Given the description of an element on the screen output the (x, y) to click on. 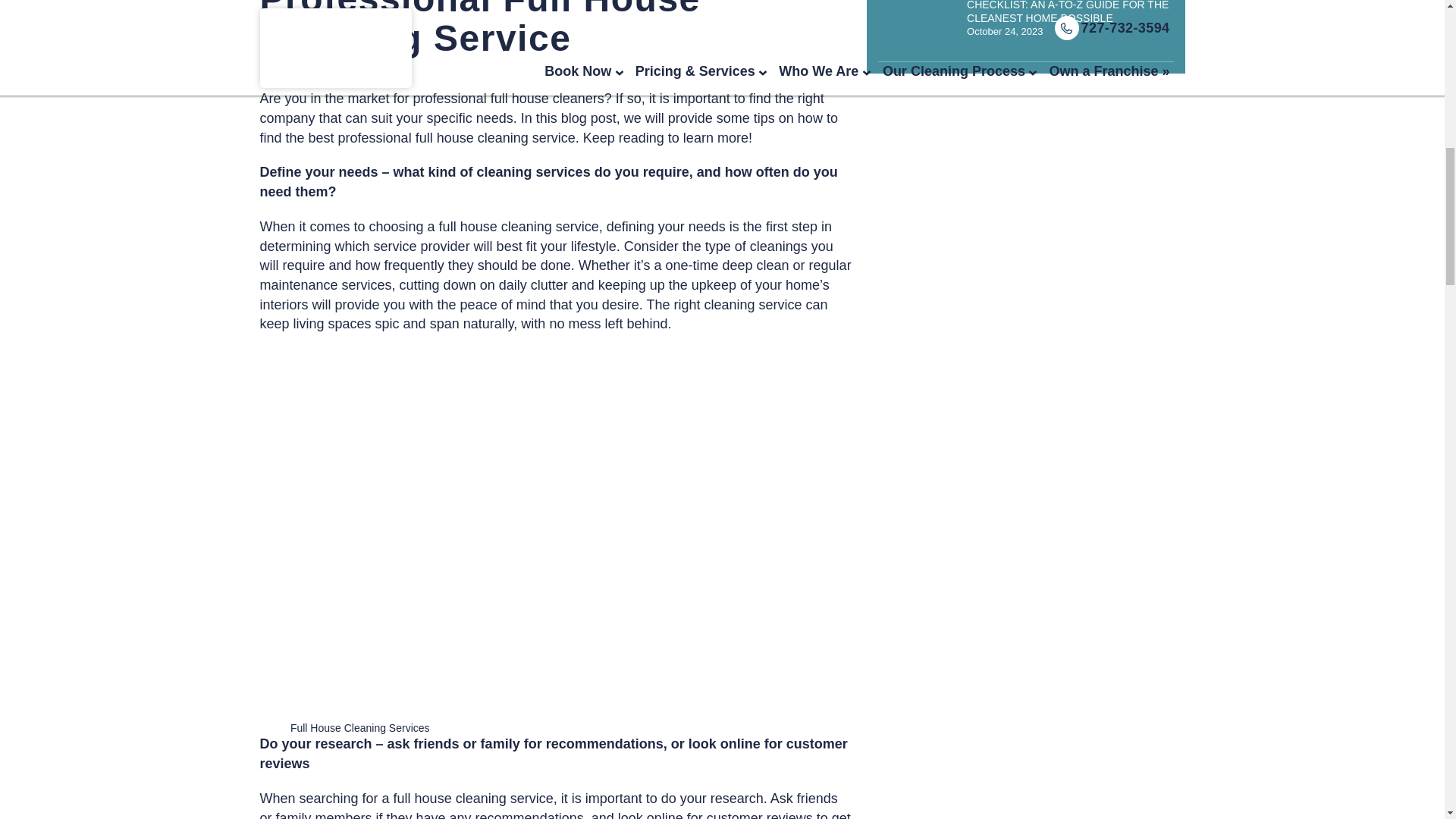
full house cleaning service (494, 137)
cleaning service (752, 304)
